Given the description of an element on the screen output the (x, y) to click on. 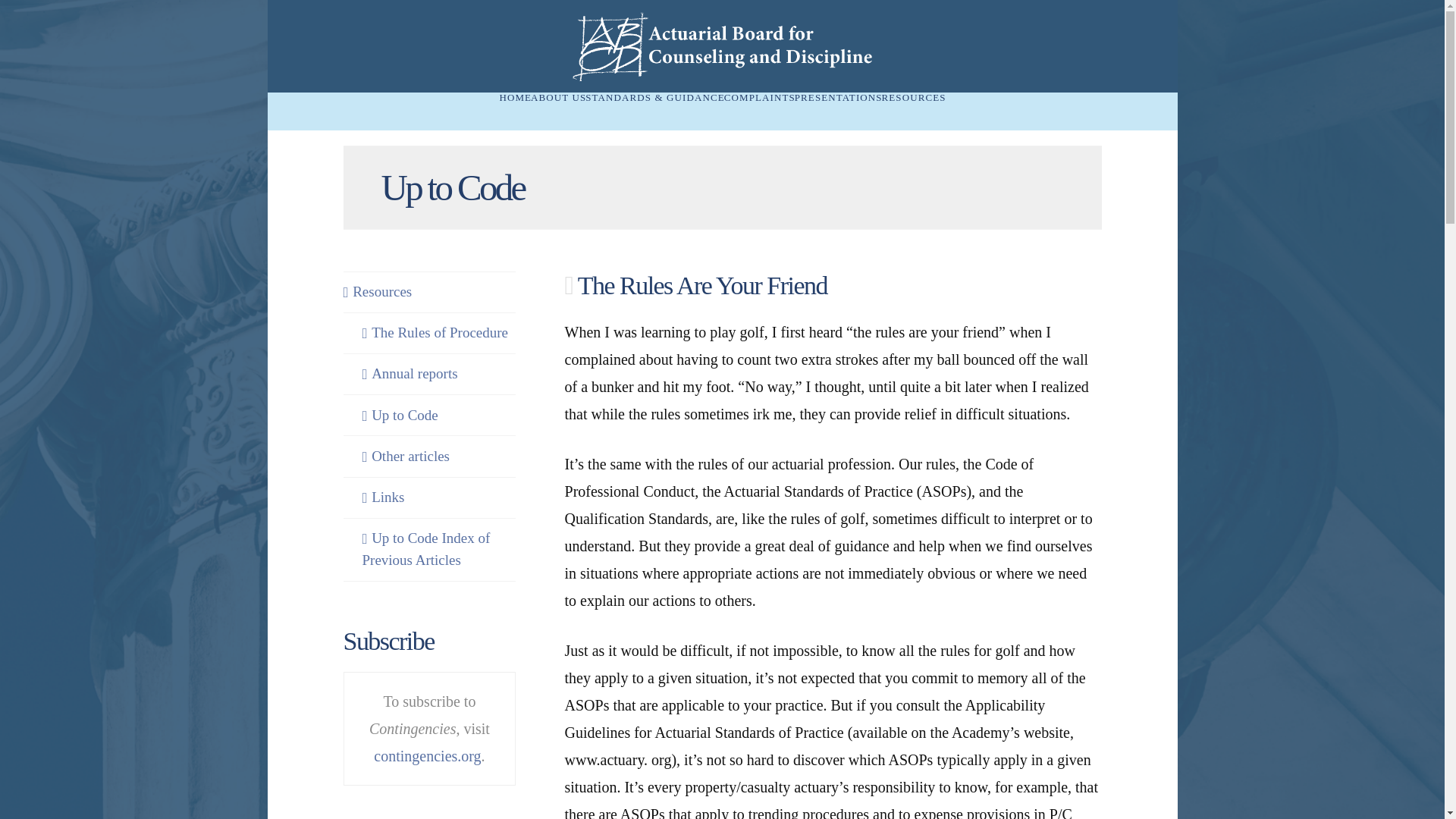
Other articles (405, 456)
contingencies.org (427, 755)
Up to Code Index of Previous Articles (439, 548)
RESOURCES (913, 111)
Links (383, 497)
COMPLAINTS (758, 111)
Up to Code (400, 415)
Resources (377, 292)
Annual reports (410, 373)
ABOUT US (558, 111)
